Given the description of an element on the screen output the (x, y) to click on. 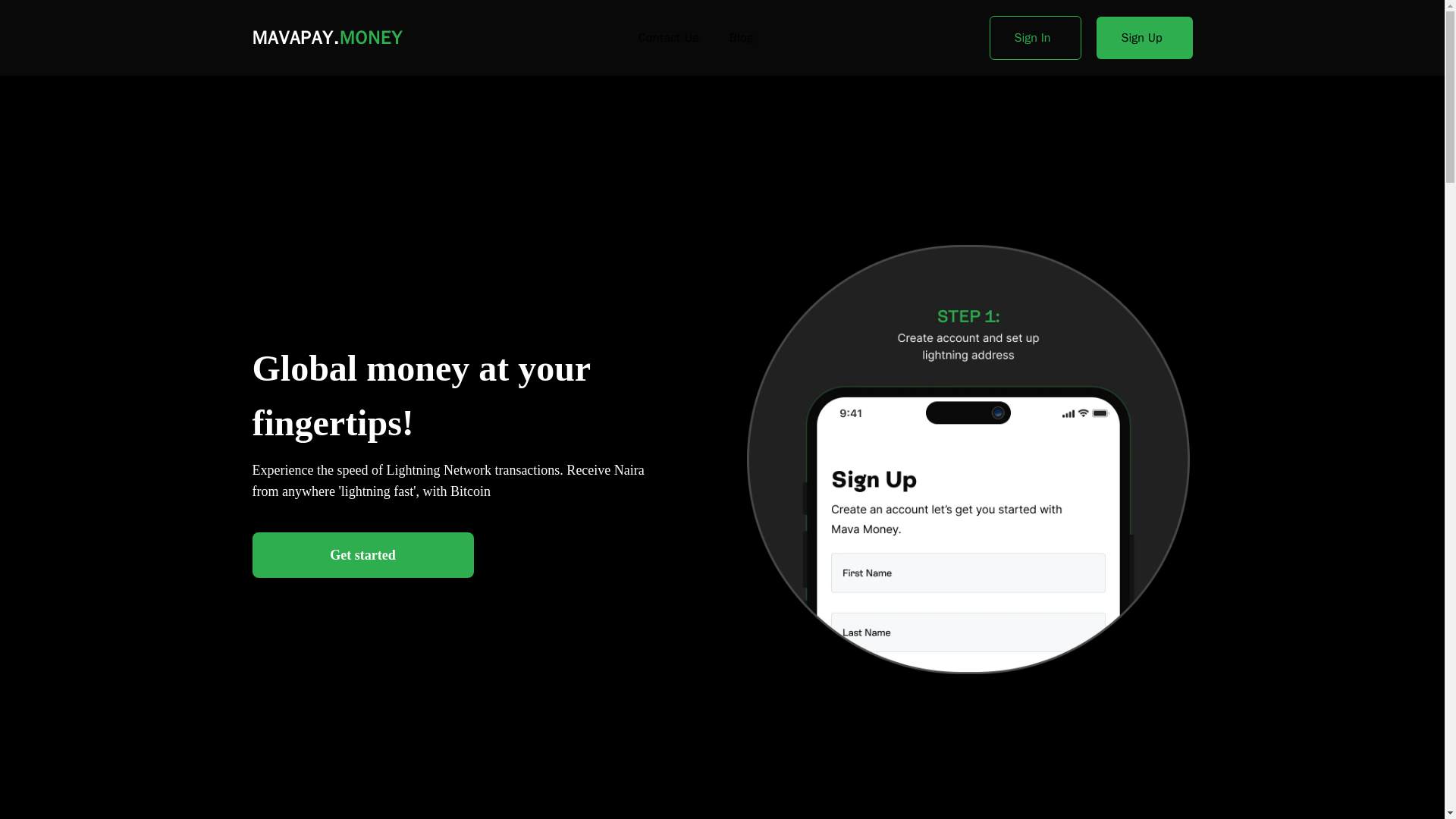
Contact Us (668, 37)
Sign Up (1144, 37)
MAVAPAY.MONEY (326, 37)
Sign In (1035, 37)
Get started (362, 555)
Blog (741, 37)
